Given the description of an element on the screen output the (x, y) to click on. 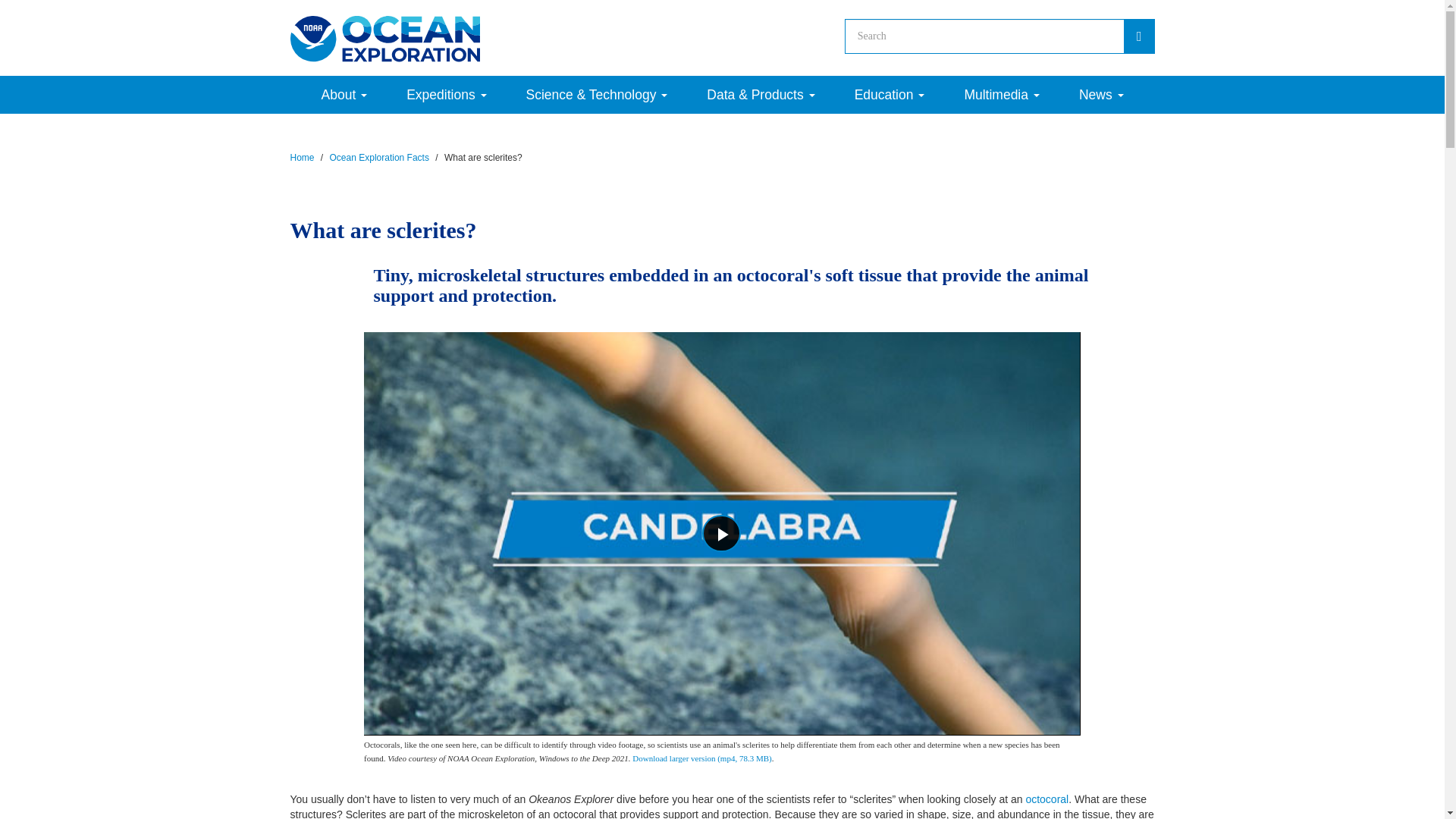
Expeditions (446, 94)
Search (1139, 36)
Play Video (721, 533)
Education (889, 94)
About (344, 94)
